Given the description of an element on the screen output the (x, y) to click on. 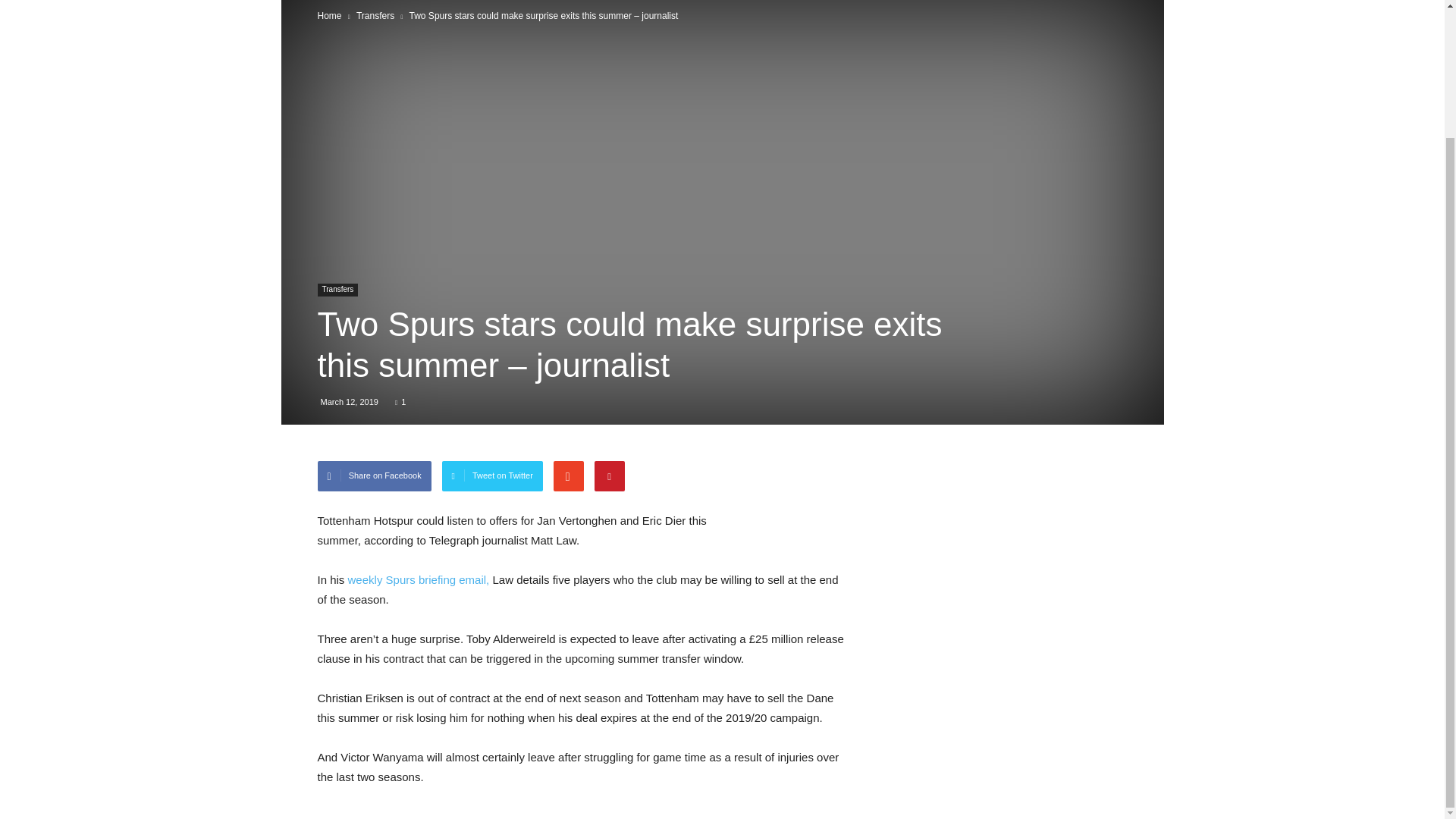
View all posts in Transfers (375, 15)
Share on Facebook (373, 476)
Home (328, 15)
1 (400, 401)
Transfers (375, 15)
Tweet on Twitter (492, 476)
Transfers (337, 289)
